Given the description of an element on the screen output the (x, y) to click on. 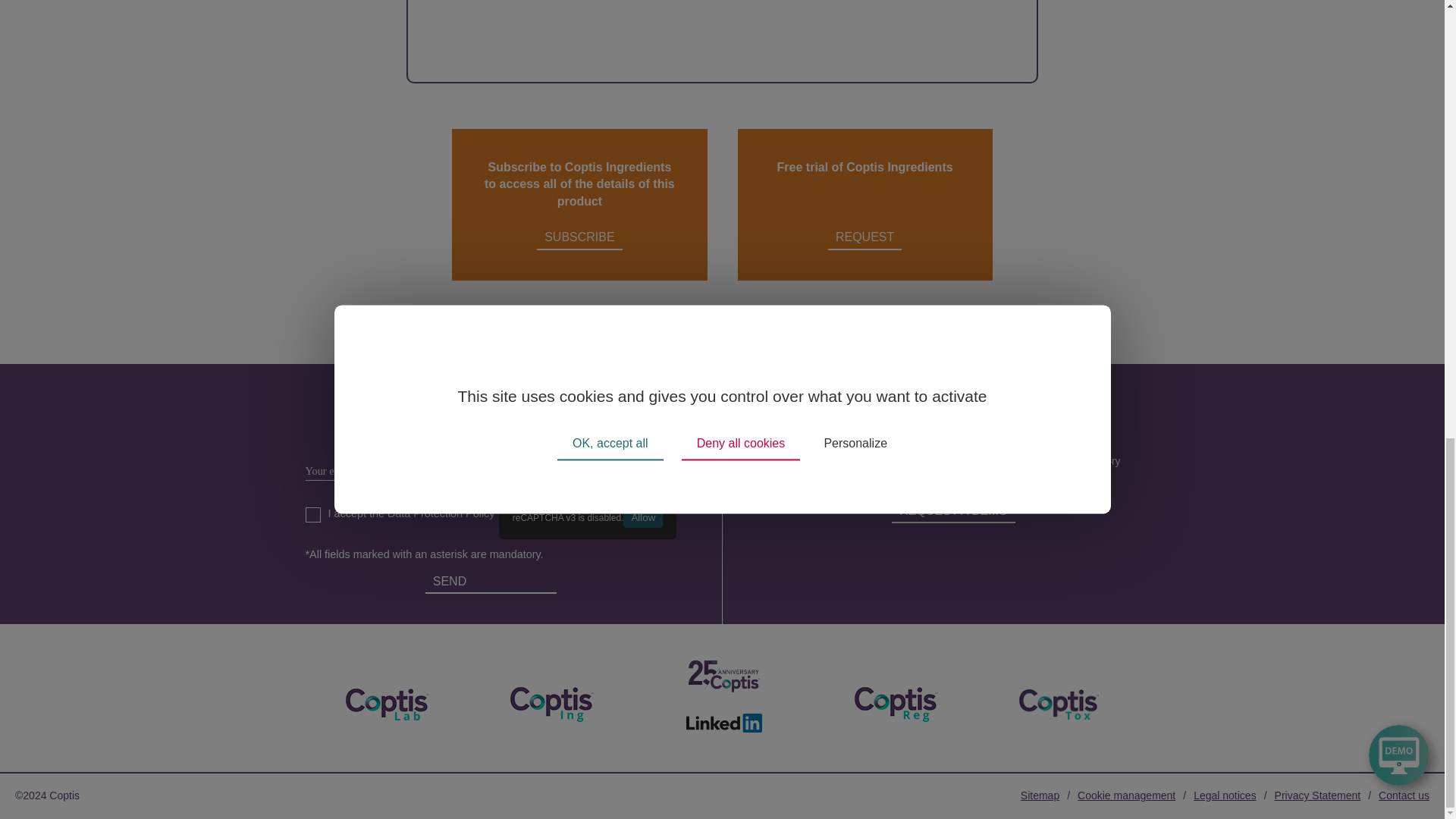
Contact us (1403, 795)
Linkedin (723, 725)
privacy statement (1318, 795)
Sitemap (1039, 795)
request a demo (952, 510)
